Given the description of an element on the screen output the (x, y) to click on. 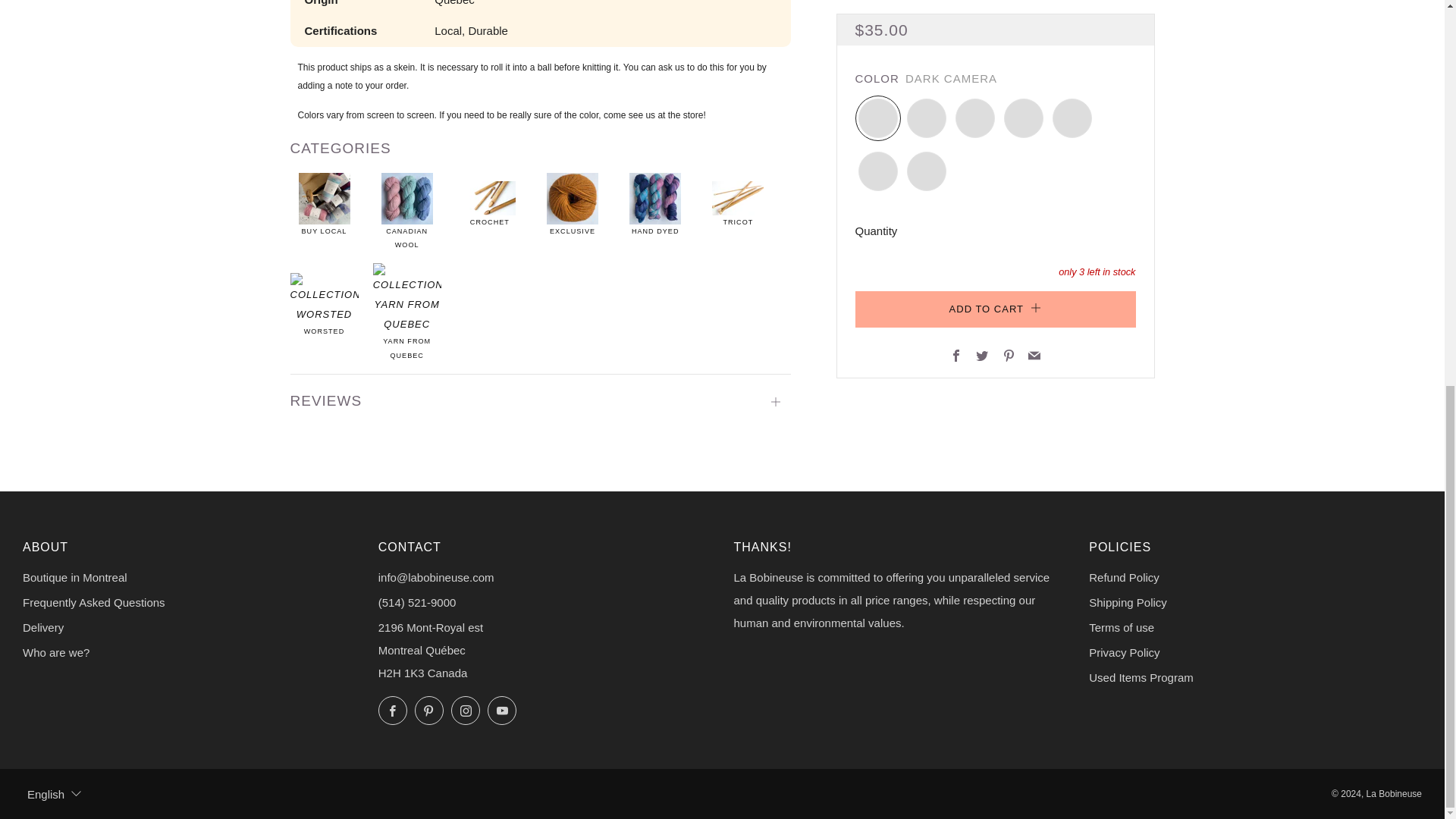
Canadian wool (406, 198)
hand dyed (654, 198)
Yarn from Quebec (406, 298)
Exclusive (572, 198)
Crochet (489, 197)
Buy Local (324, 198)
Tricot (736, 197)
Worsted (323, 298)
